Given the description of an element on the screen output the (x, y) to click on. 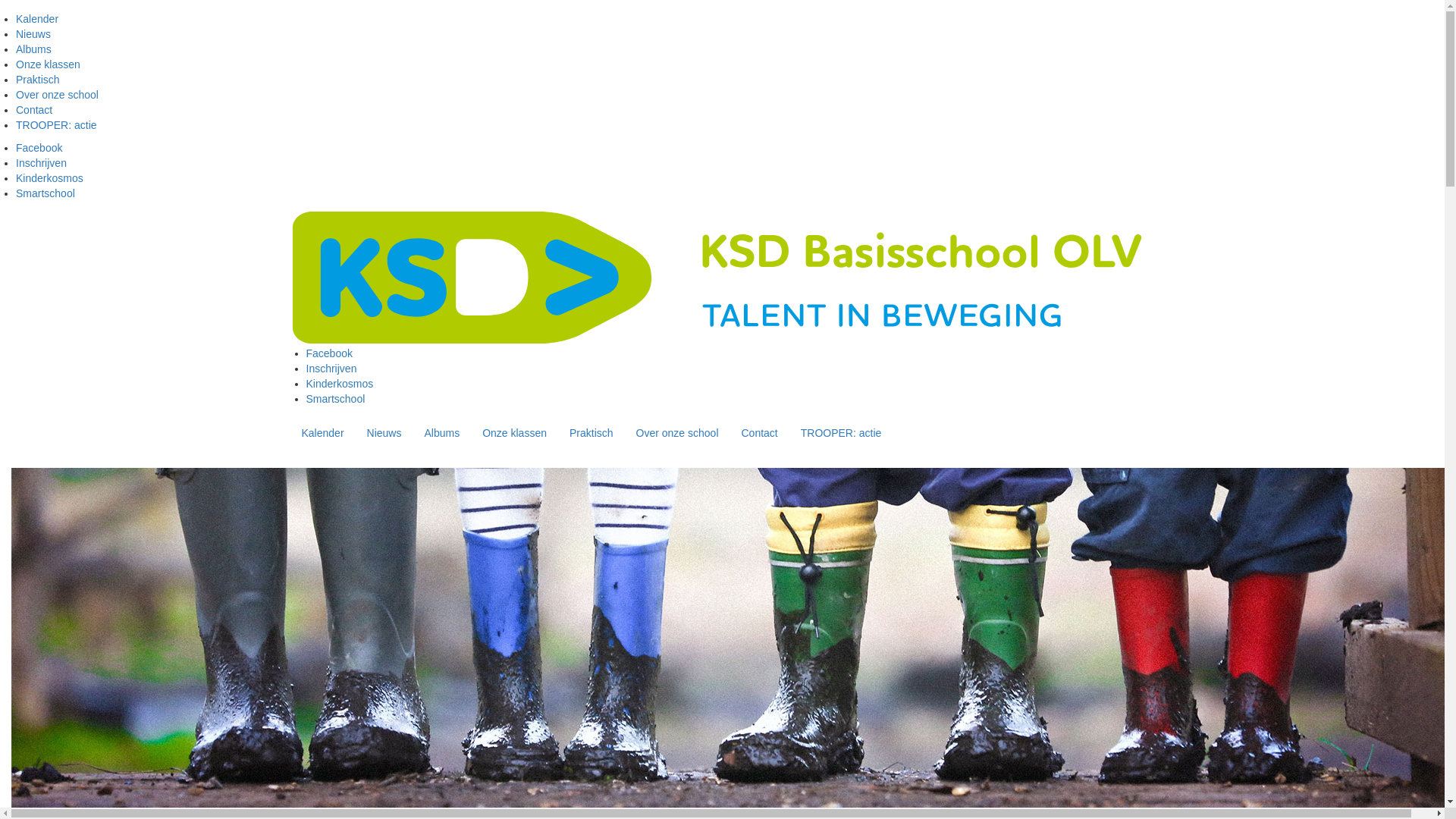
Over onze school Element type: text (56, 94)
Inschrijven Element type: text (331, 368)
Over onze school Element type: text (677, 432)
Smartschool Element type: text (45, 193)
Albums Element type: text (33, 49)
Overslaan en naar de inhoud gaan Element type: text (0, 11)
Praktisch Element type: text (37, 79)
Nieuws Element type: text (384, 432)
Home Element type: hover (727, 276)
Kalender Element type: text (36, 18)
Facebook Element type: text (38, 147)
Kinderkosmos Element type: text (49, 178)
Facebook Element type: text (329, 353)
Onze klassen Element type: text (47, 64)
Contact Element type: text (33, 109)
Nieuws Element type: text (32, 34)
Kinderkosmos Element type: text (339, 383)
Kalender Element type: text (321, 432)
TROOPER: actie Element type: text (841, 432)
TROOPER: actie Element type: text (56, 125)
Praktisch Element type: text (591, 432)
Smartschool Element type: text (335, 398)
Contact Element type: text (758, 432)
Albums Element type: text (441, 432)
Inschrijven Element type: text (40, 162)
Onze klassen Element type: text (514, 432)
